Given the description of an element on the screen output the (x, y) to click on. 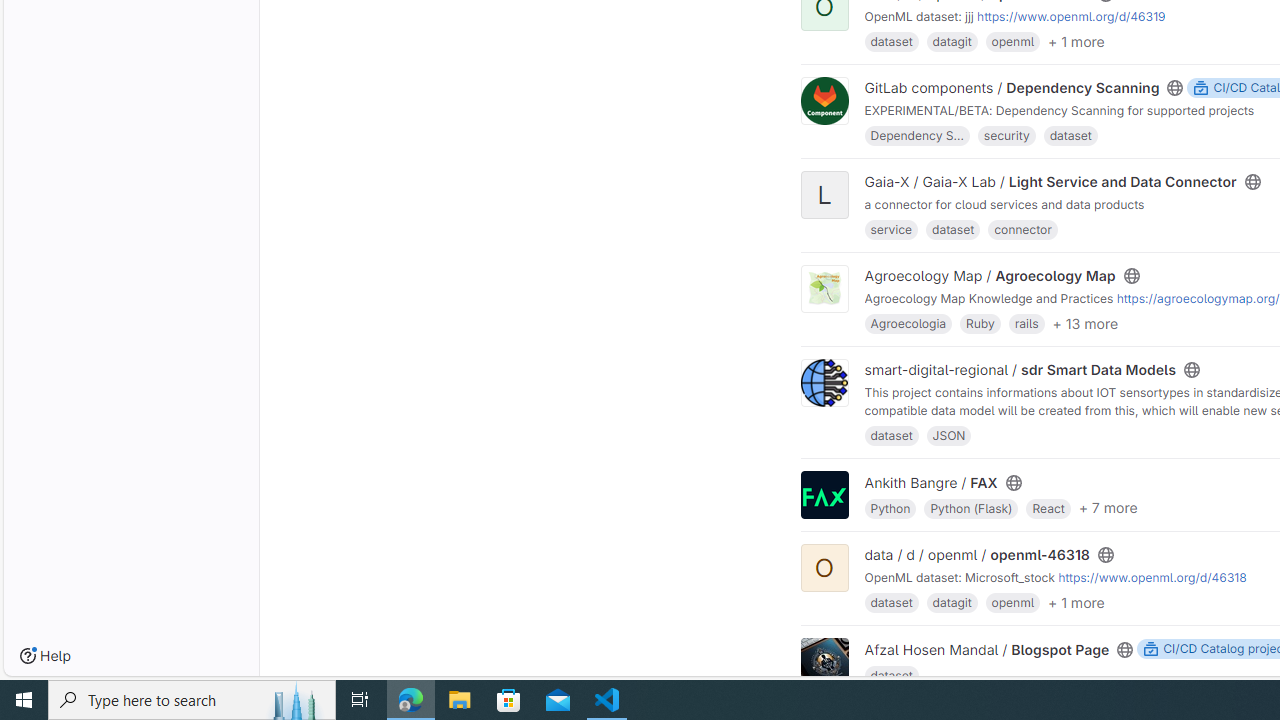
Dependency S... (917, 135)
datagit (951, 601)
O (824, 568)
